Given the description of an element on the screen output the (x, y) to click on. 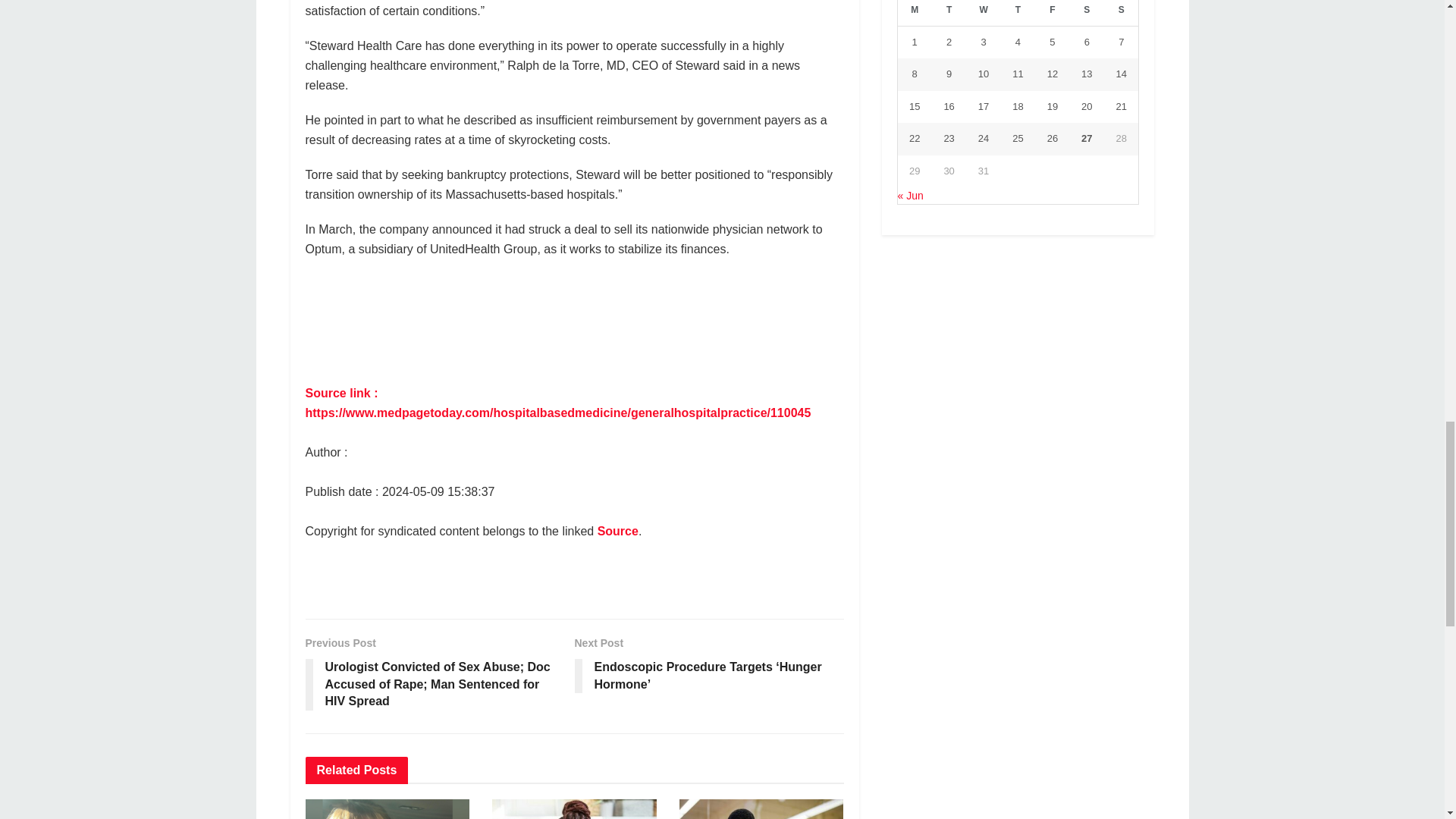
Sunday (1120, 13)
Wednesday (983, 13)
Saturday (1086, 13)
Source (617, 530)
Monday (914, 13)
Friday (1051, 13)
Tuesday (948, 13)
Thursday (1018, 13)
